Given the description of an element on the screen output the (x, y) to click on. 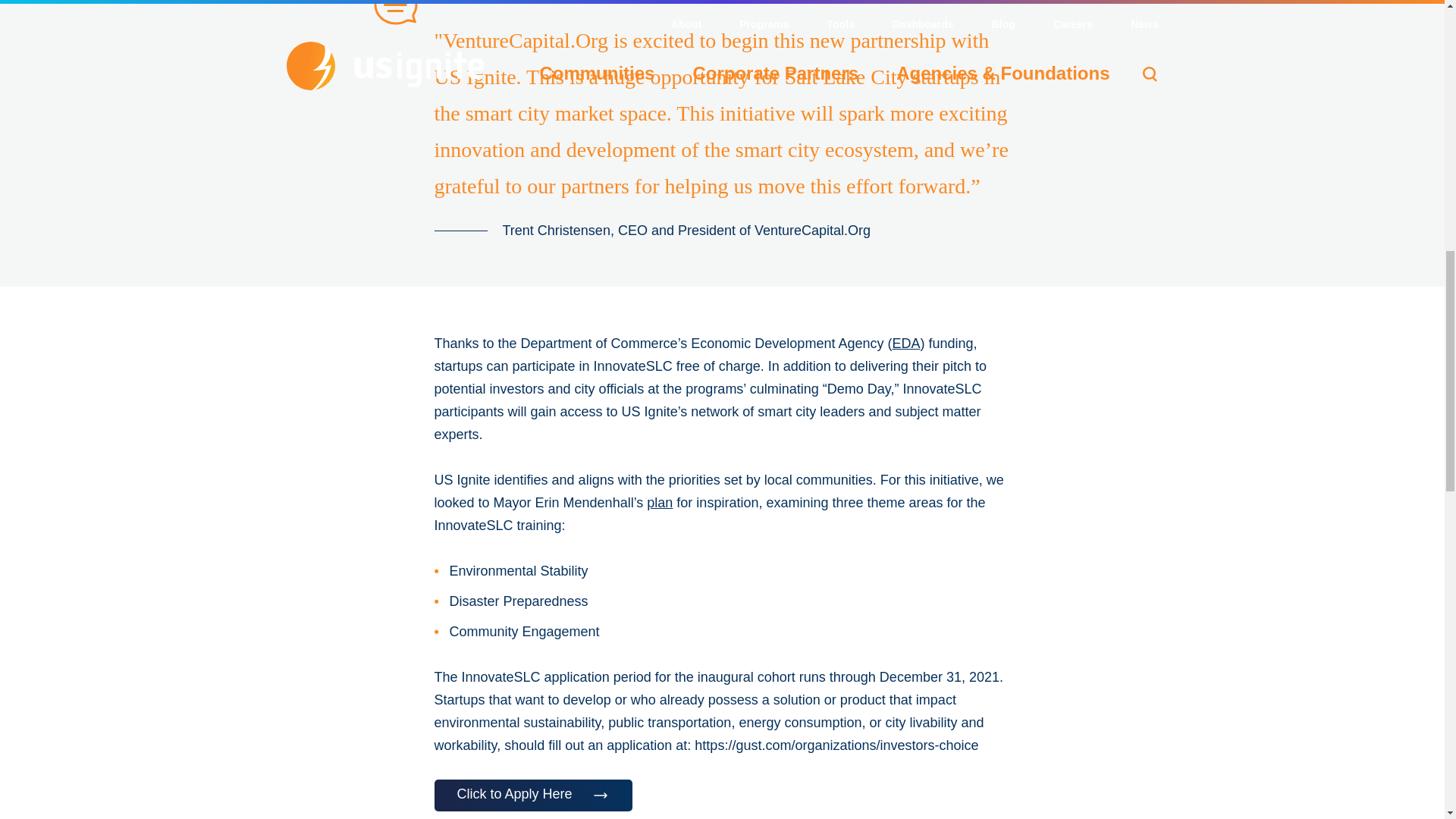
EDA (905, 343)
Click to Apply Here (532, 795)
plan (659, 502)
